Given the description of an element on the screen output the (x, y) to click on. 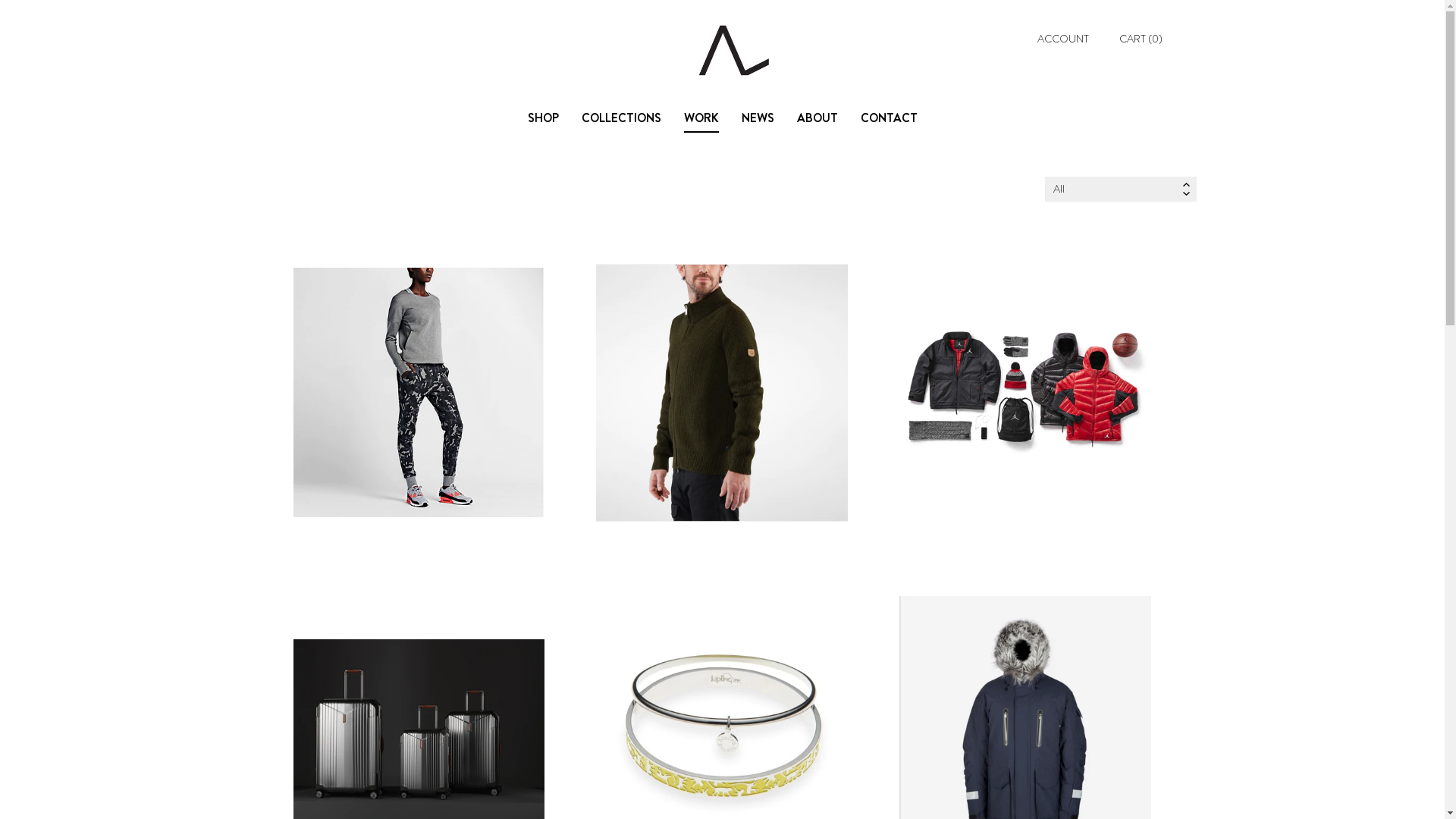
ABOUT Element type: text (816, 118)
CONTACT Element type: text (887, 118)
SHOP
  Element type: text (542, 118)
COLLECTIONS Element type: text (620, 118)
WORK Element type: text (701, 118)
NEWS Element type: text (757, 118)
ACCOUNT Element type: text (1062, 38)
CART (0) Element type: text (1140, 38)
